Given the description of an element on the screen output the (x, y) to click on. 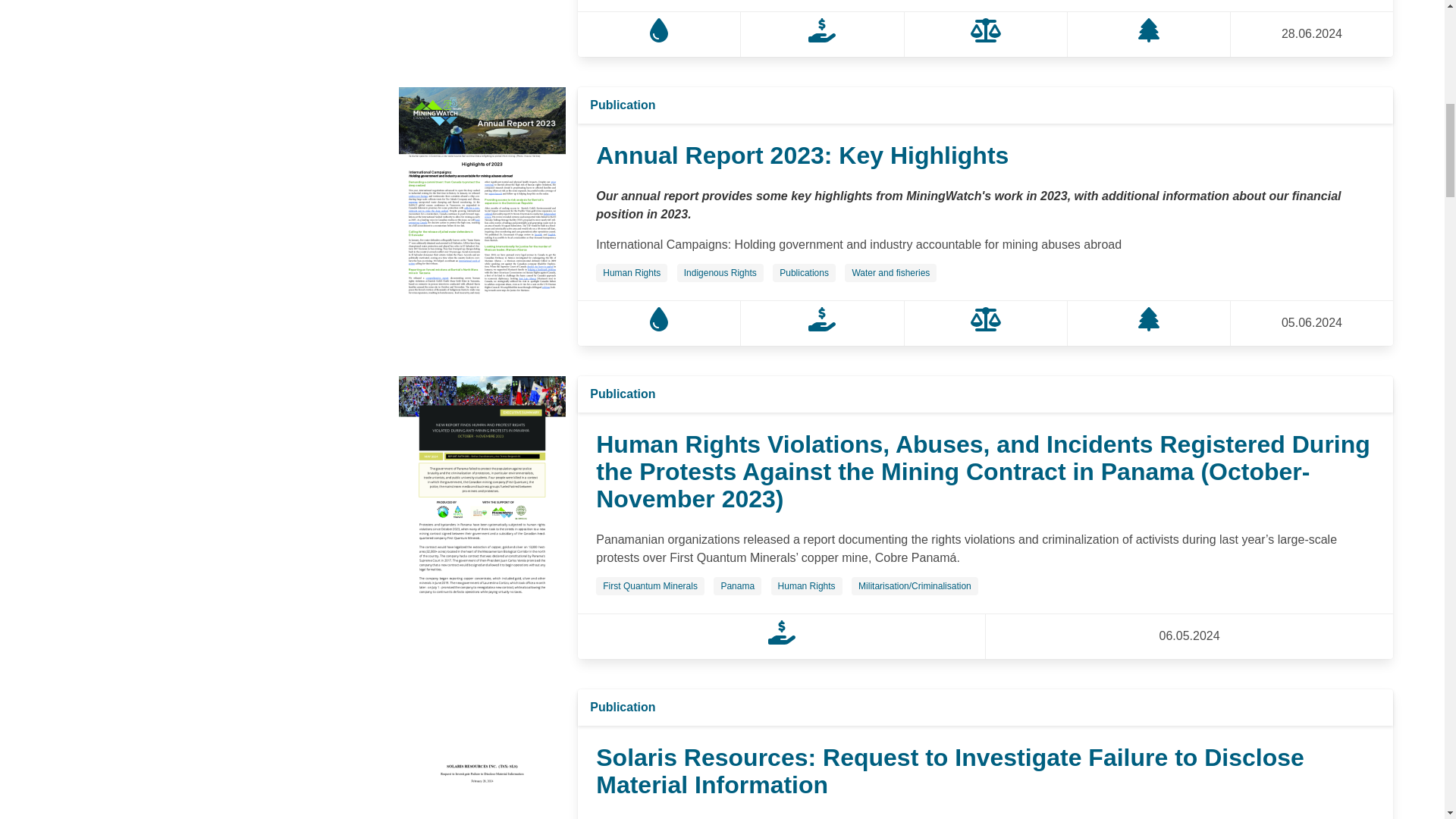
Control the Corporations (781, 640)
Put People and Ecosystems First (1148, 327)
Publication (622, 105)
Protect Water (658, 327)
Control the Corporations (821, 327)
Human Rights (631, 273)
Protect Water (658, 38)
Fix Mining Laws (985, 327)
Fix Mining Laws (985, 38)
Put People and Ecosystems First (1148, 38)
Annual Report 2023: Key Highlights (802, 154)
Control the Corporations (821, 38)
